Given the description of an element on the screen output the (x, y) to click on. 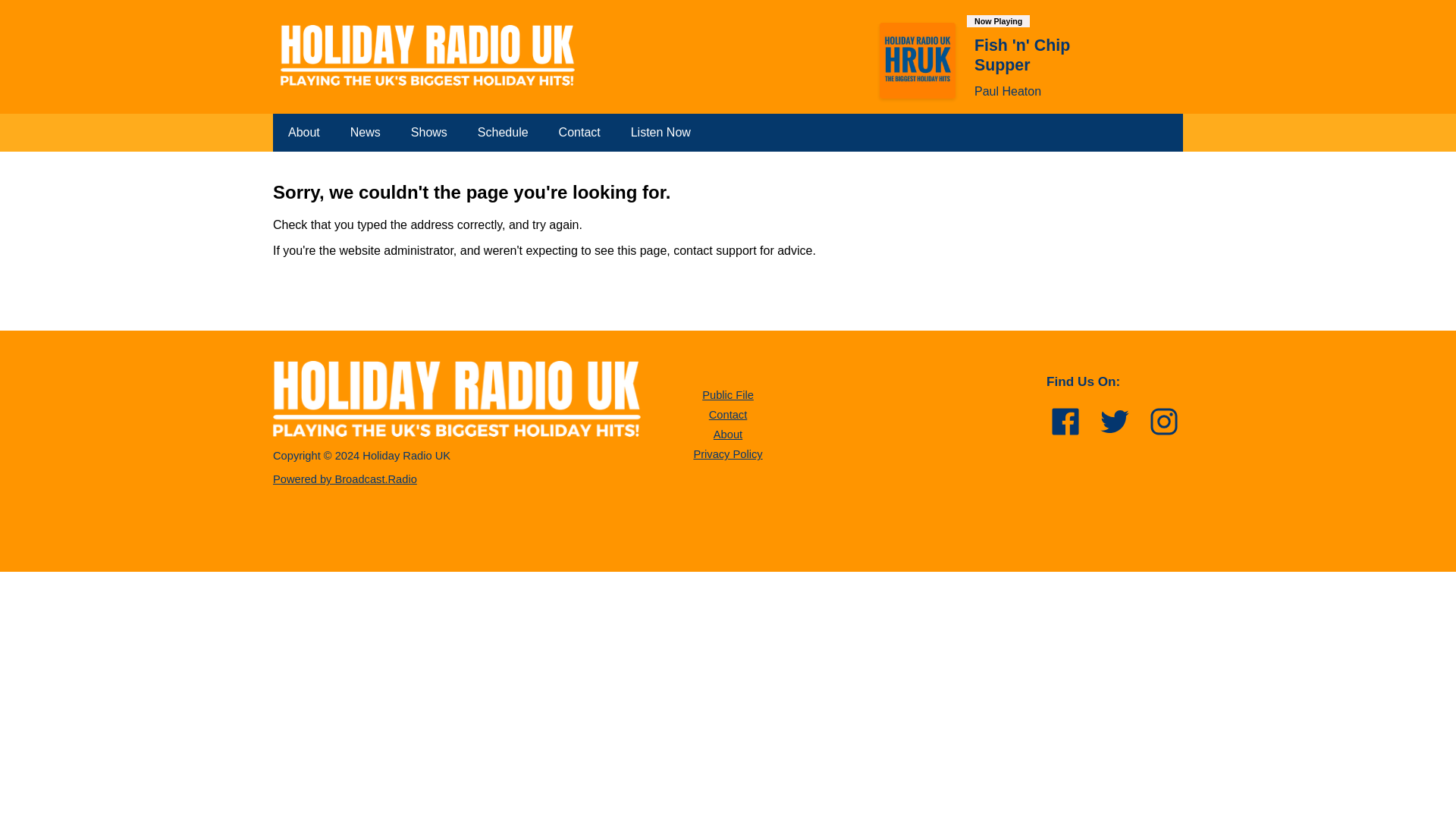
About (303, 132)
Contact (728, 414)
Shows (429, 132)
News (365, 132)
About (303, 132)
About (727, 434)
Schedule (503, 132)
Privacy Policy (727, 453)
Public File (727, 395)
News (365, 132)
Shows (429, 132)
Listen Now (660, 132)
Powered by Broadcast.Radio (344, 479)
Contact (579, 132)
Listen Now (660, 132)
